Given the description of an element on the screen output the (x, y) to click on. 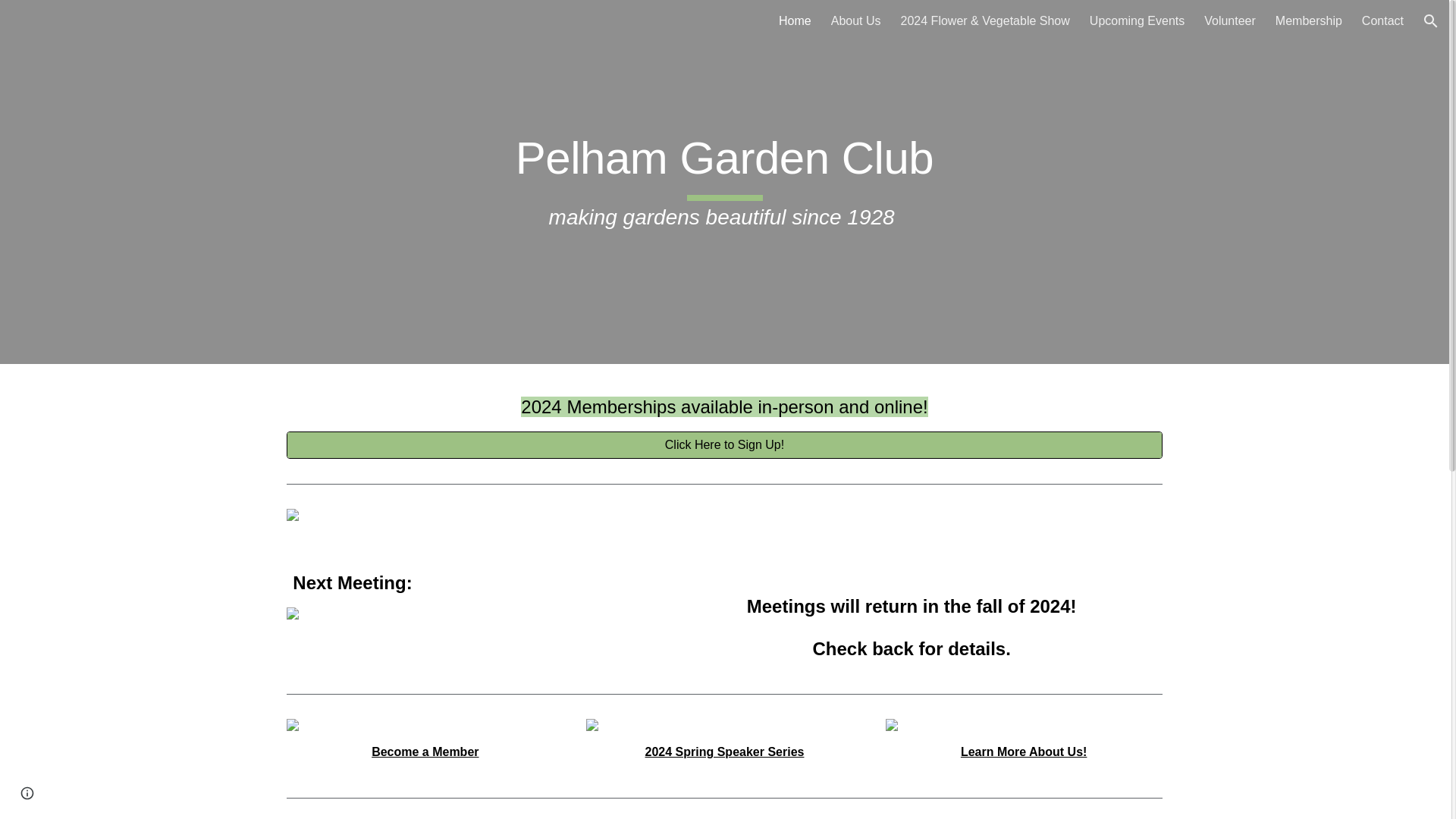
Contact (1382, 20)
2024 Spring Speaker Series (725, 751)
Membership (1308, 20)
Upcoming Events (1137, 20)
Click Here to Sign Up! (723, 445)
Learn More About Us! (1023, 751)
Become a Member (425, 751)
Home (794, 20)
Volunteer (1229, 20)
About Us (855, 20)
